Given the description of an element on the screen output the (x, y) to click on. 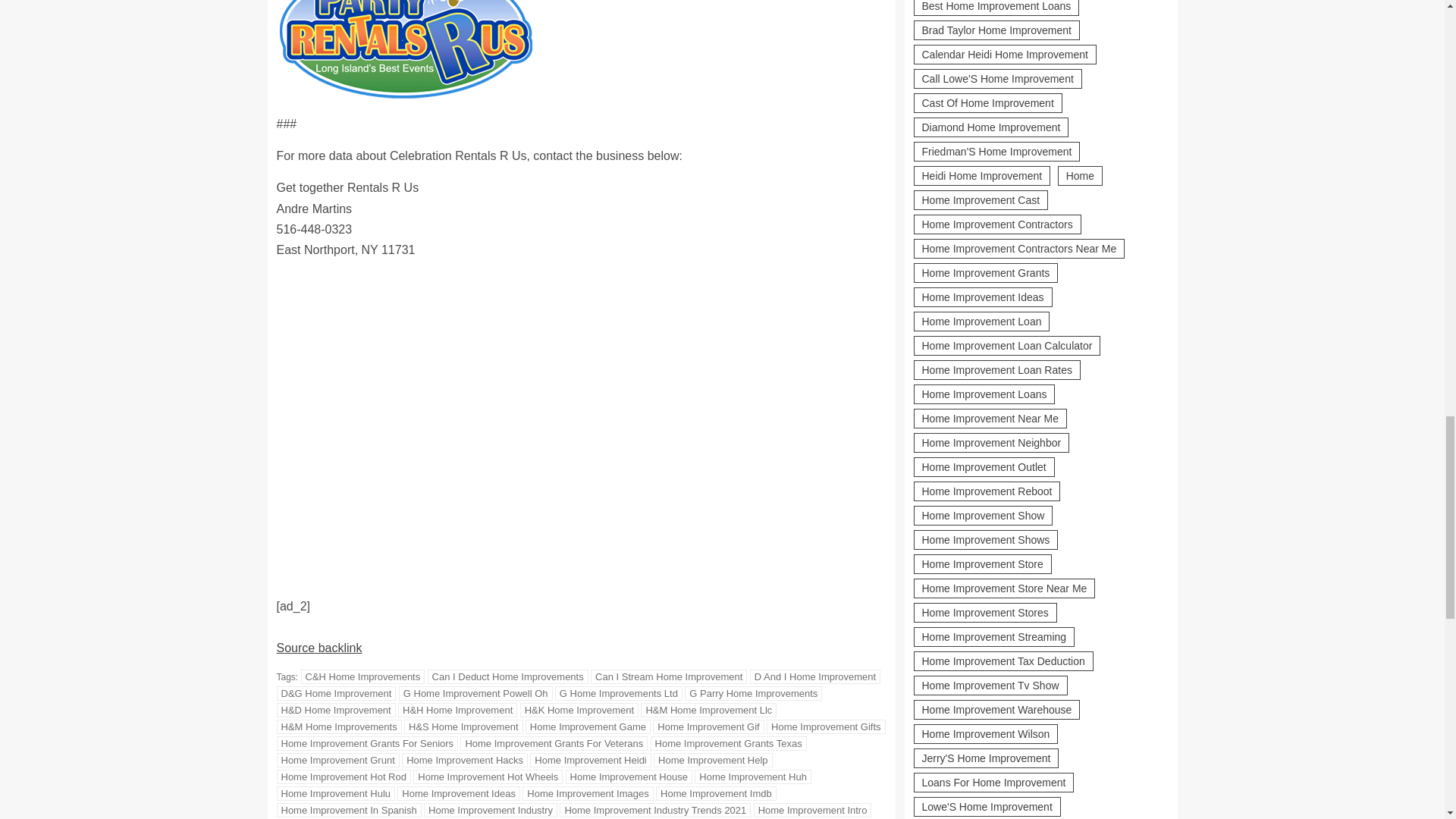
G Home Improvements Ltd (618, 693)
Can I Deduct Home Improvements (508, 676)
G Parry Home Improvements (753, 693)
Can I Stream Home Improvement (668, 676)
Source backlink (318, 647)
G Home Improvement Powell Oh (475, 693)
D And I Home Improvement (814, 676)
